Given the description of an element on the screen output the (x, y) to click on. 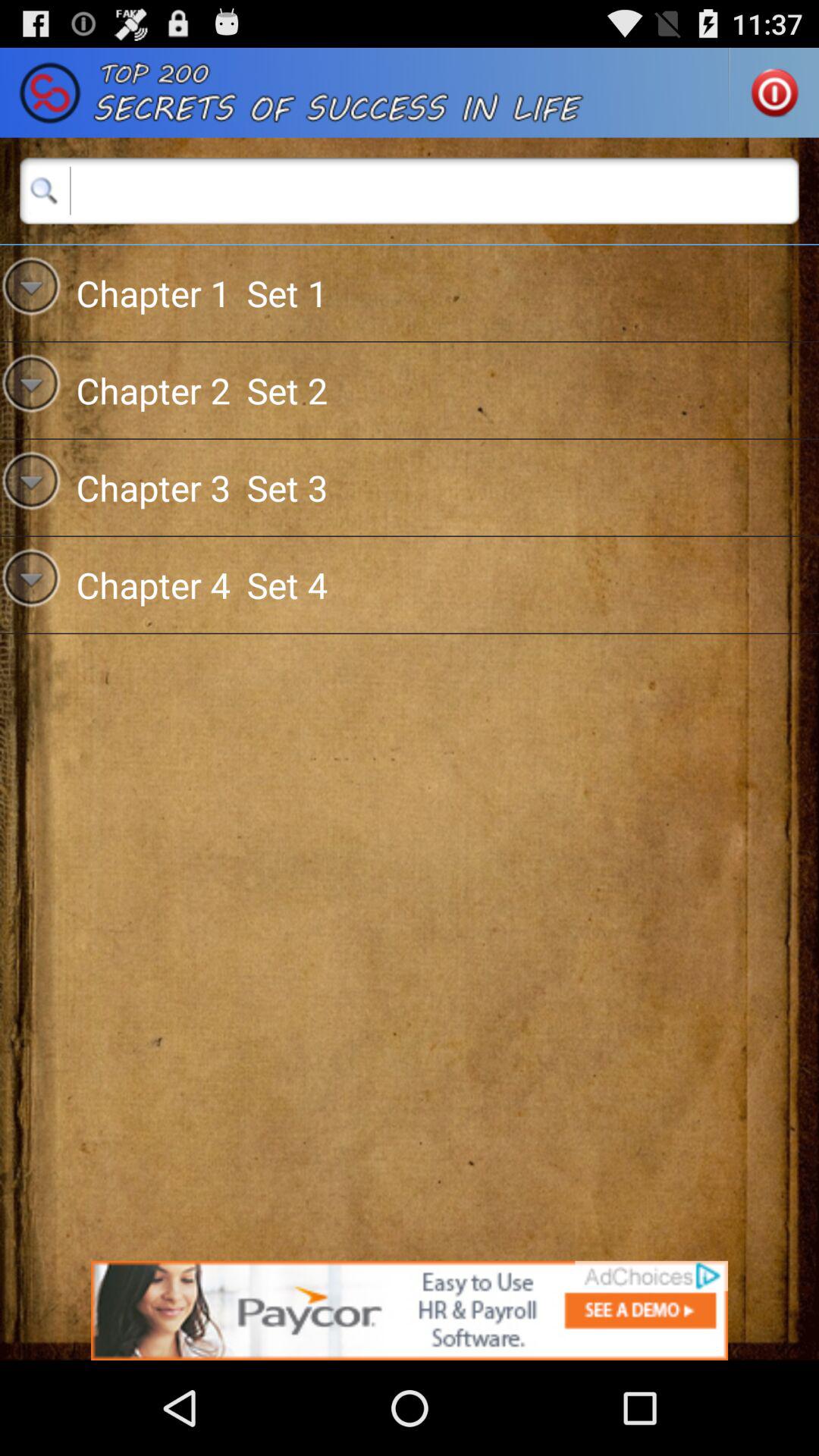
search bar (409, 190)
